Given the description of an element on the screen output the (x, y) to click on. 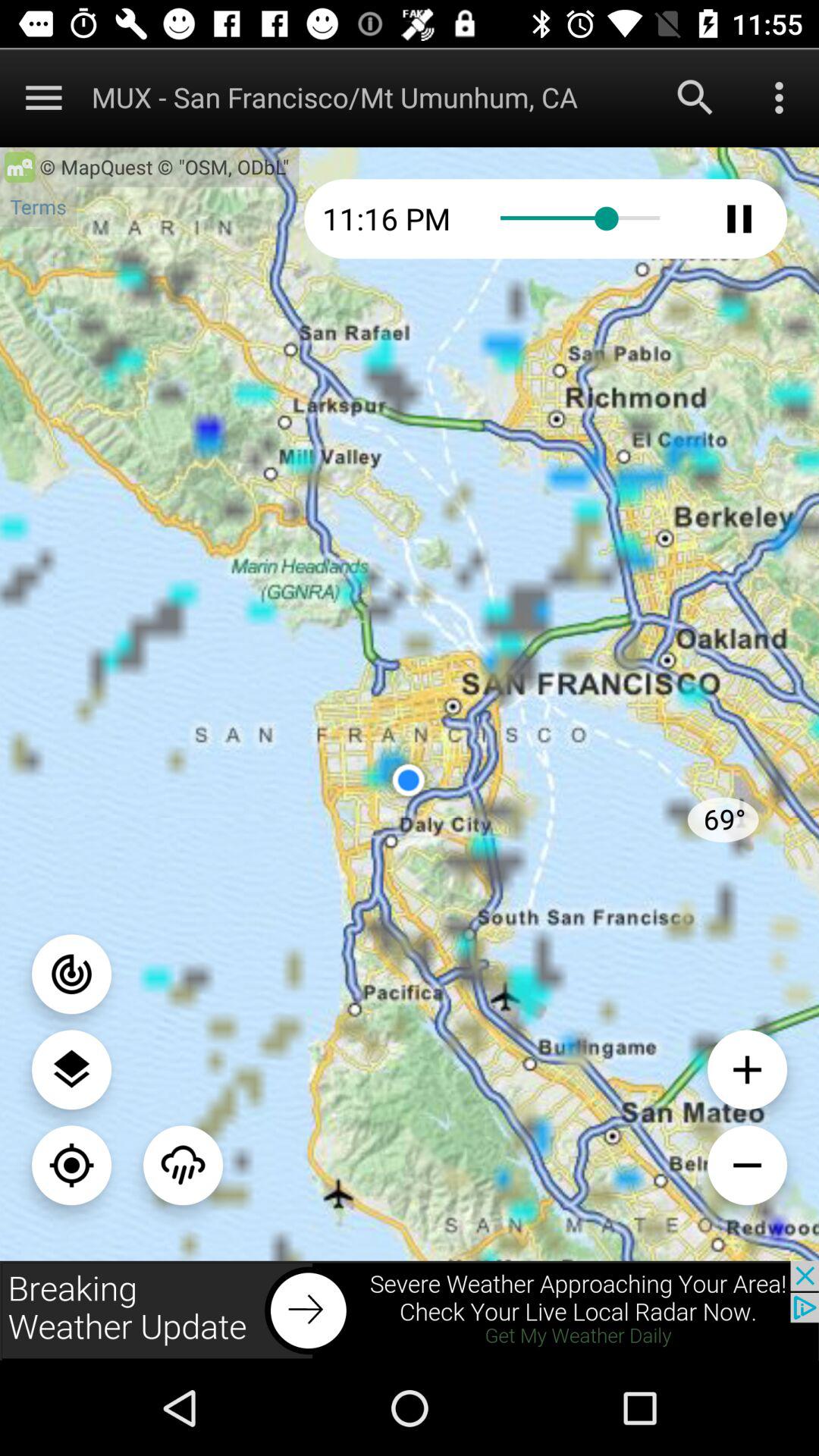
search for new city (695, 97)
